Given the description of an element on the screen output the (x, y) to click on. 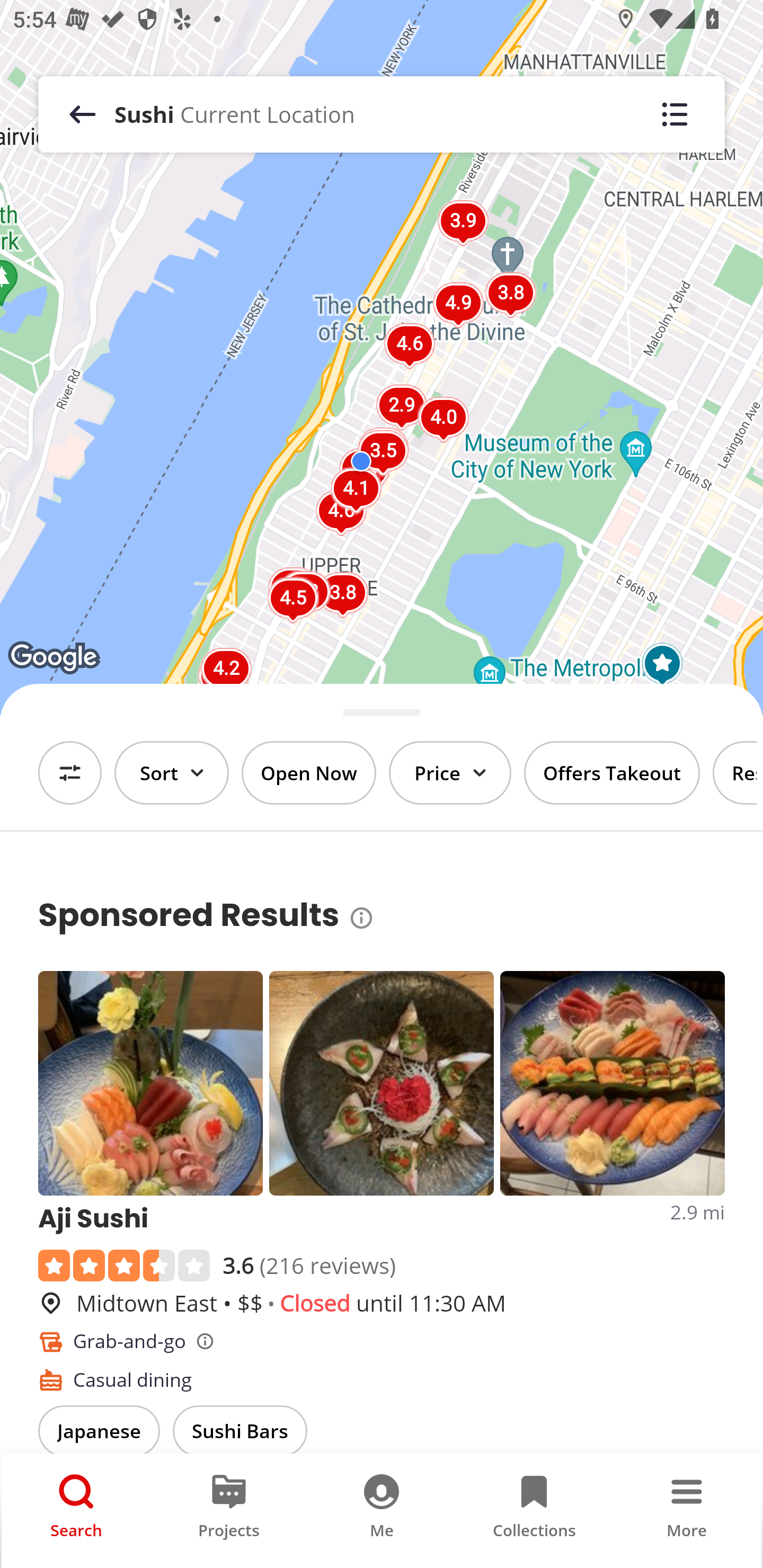
Sort (171, 772)
